Given the description of an element on the screen output the (x, y) to click on. 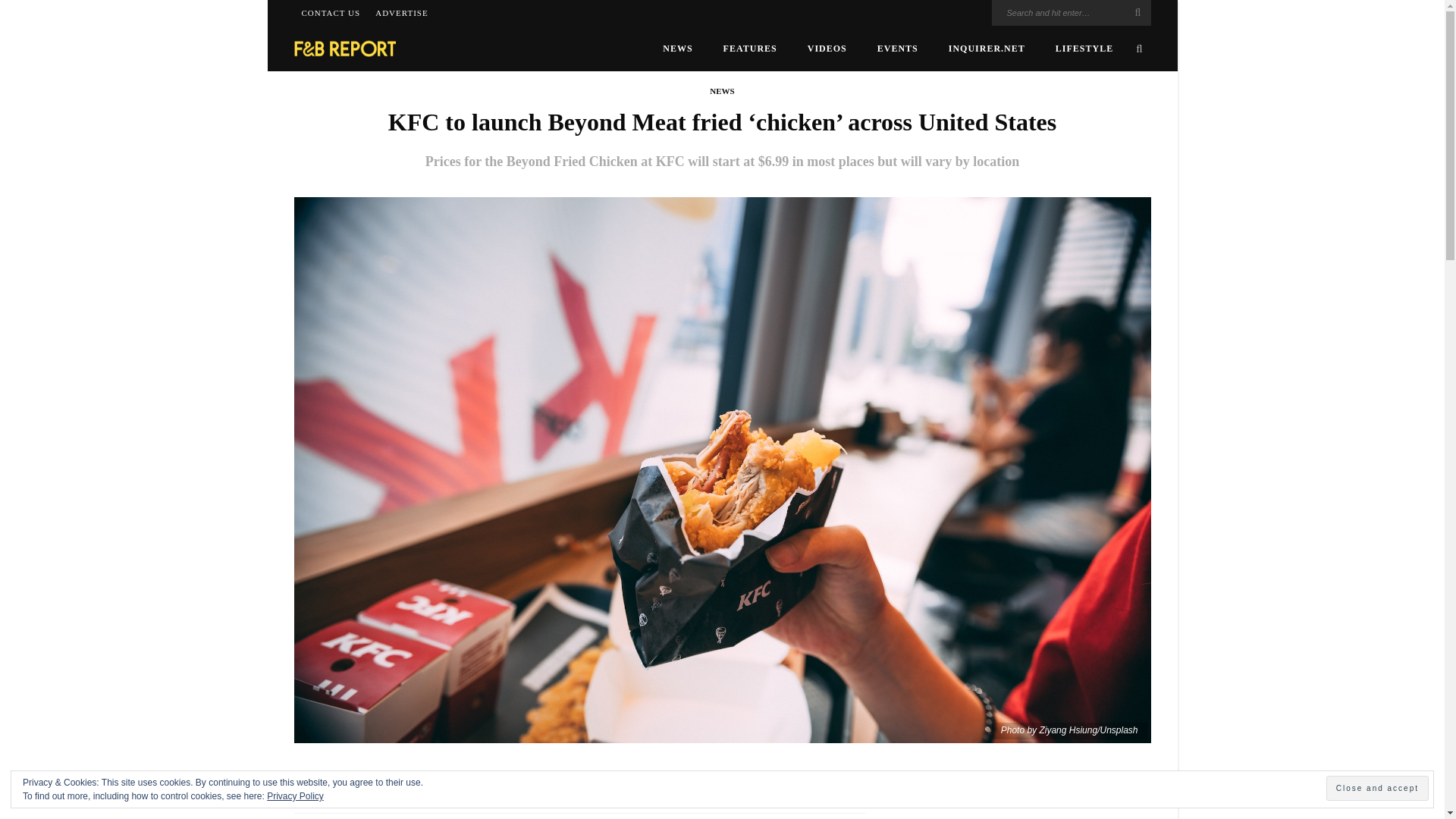
post by fnbreport (349, 792)
Search for: (1071, 12)
Close and accept (1377, 787)
search (1139, 48)
